Given the description of an element on the screen output the (x, y) to click on. 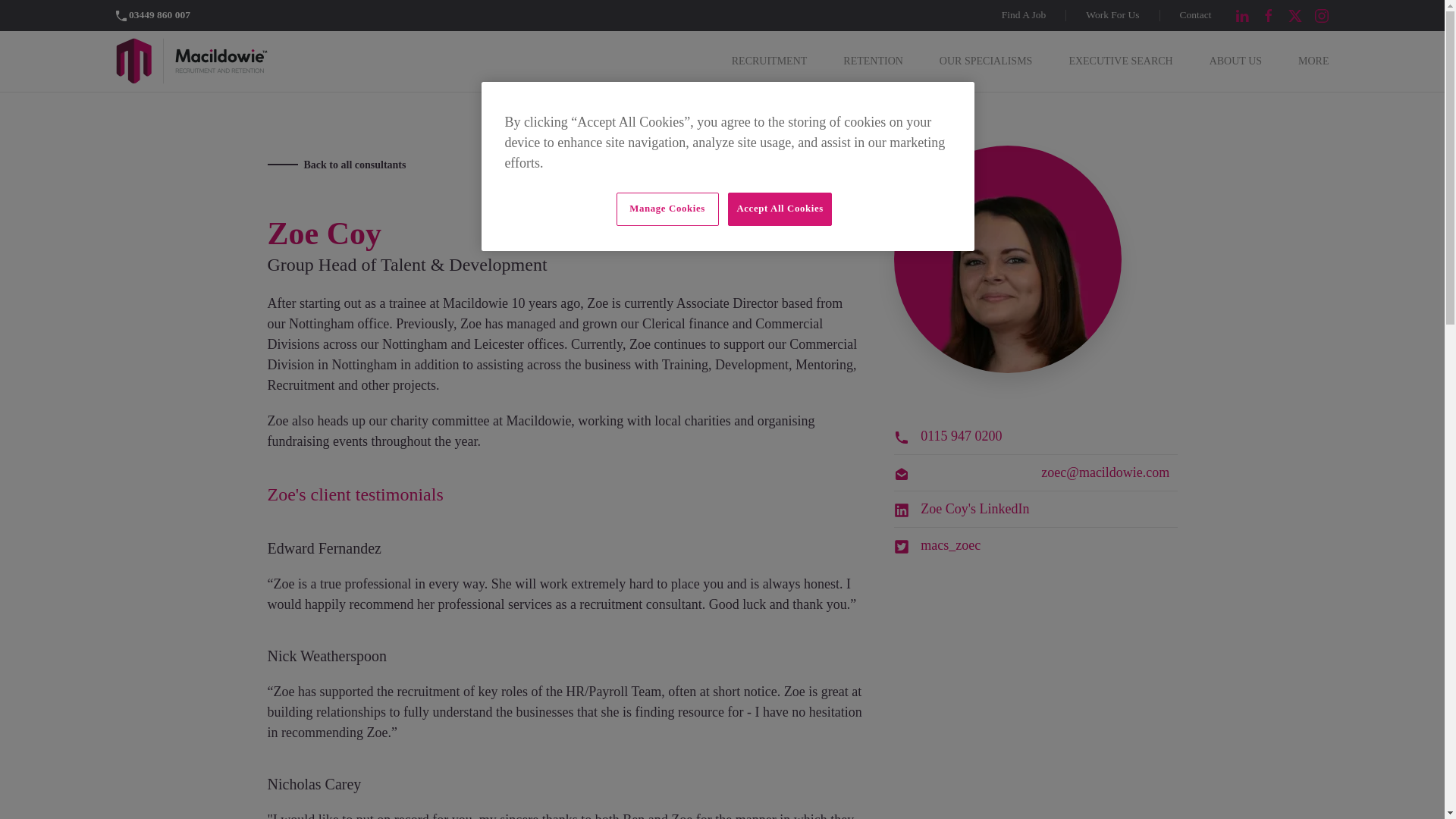
RECRUITMENT (770, 61)
Work For Us (1112, 14)
03449 860 007 (152, 14)
Contact (1195, 14)
Find A Job (1023, 14)
